Given the description of an element on the screen output the (x, y) to click on. 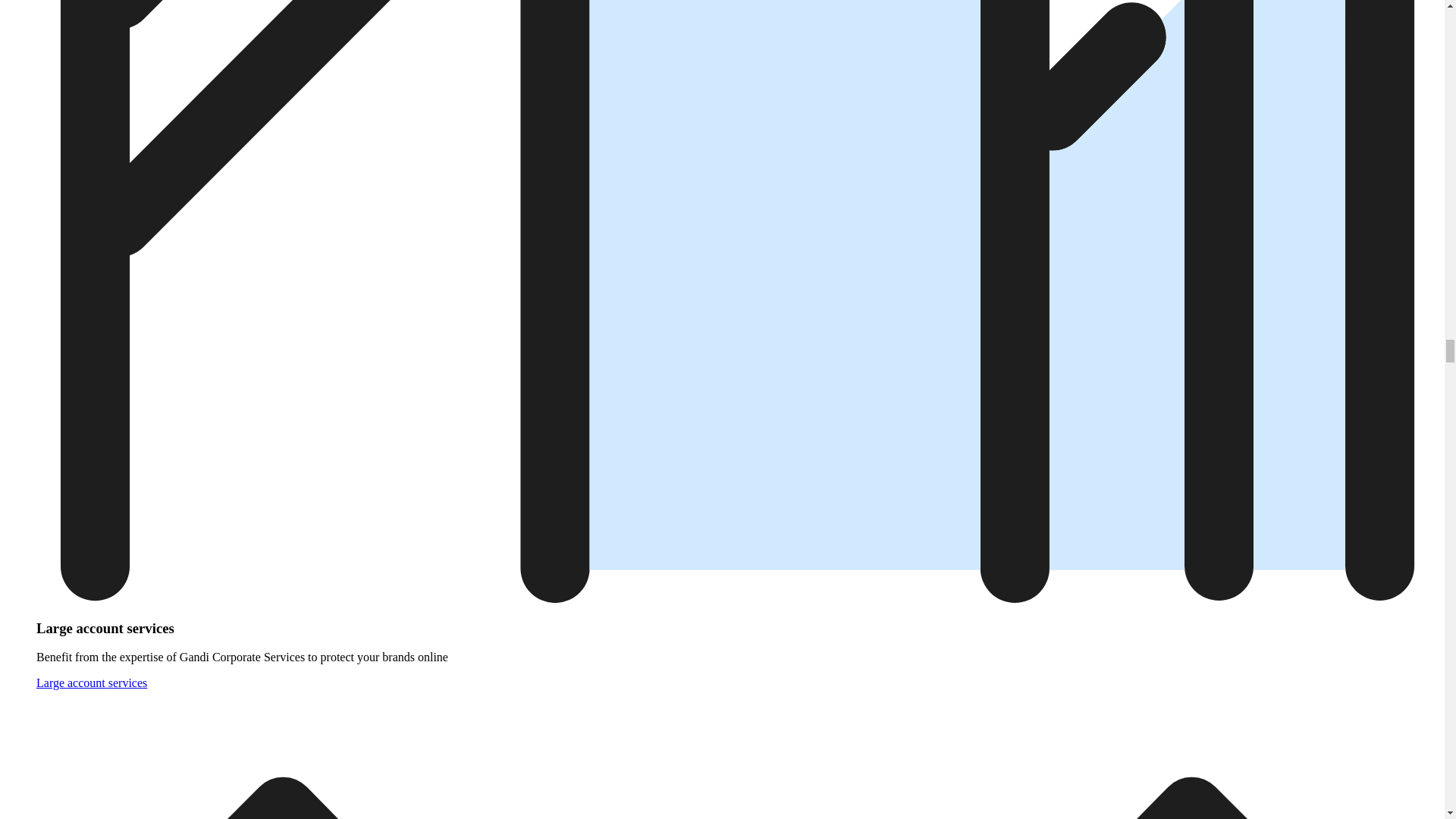
Large account services (91, 682)
